Given the description of an element on the screen output the (x, y) to click on. 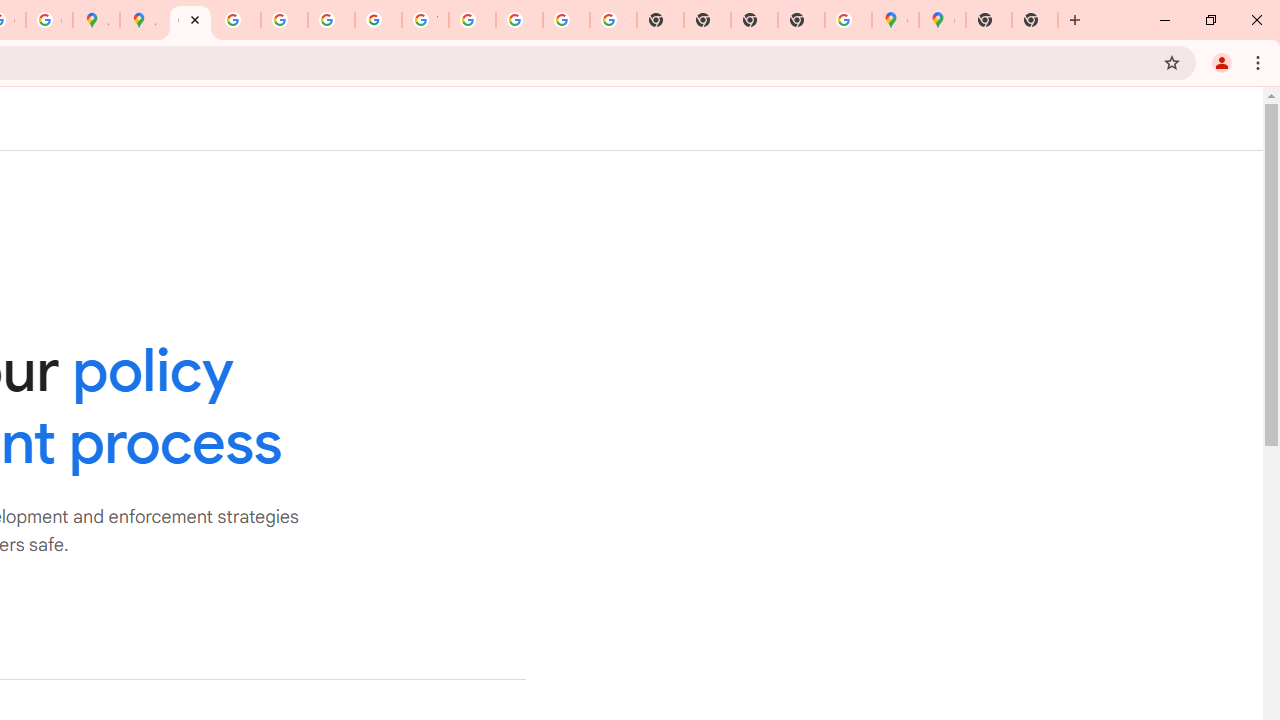
New Tab (989, 20)
New Tab (1035, 20)
New Tab (801, 20)
Google Maps (895, 20)
Privacy Help Center - Policies Help (284, 20)
Use Google Maps in Space - Google Maps Help (848, 20)
